Given the description of an element on the screen output the (x, y) to click on. 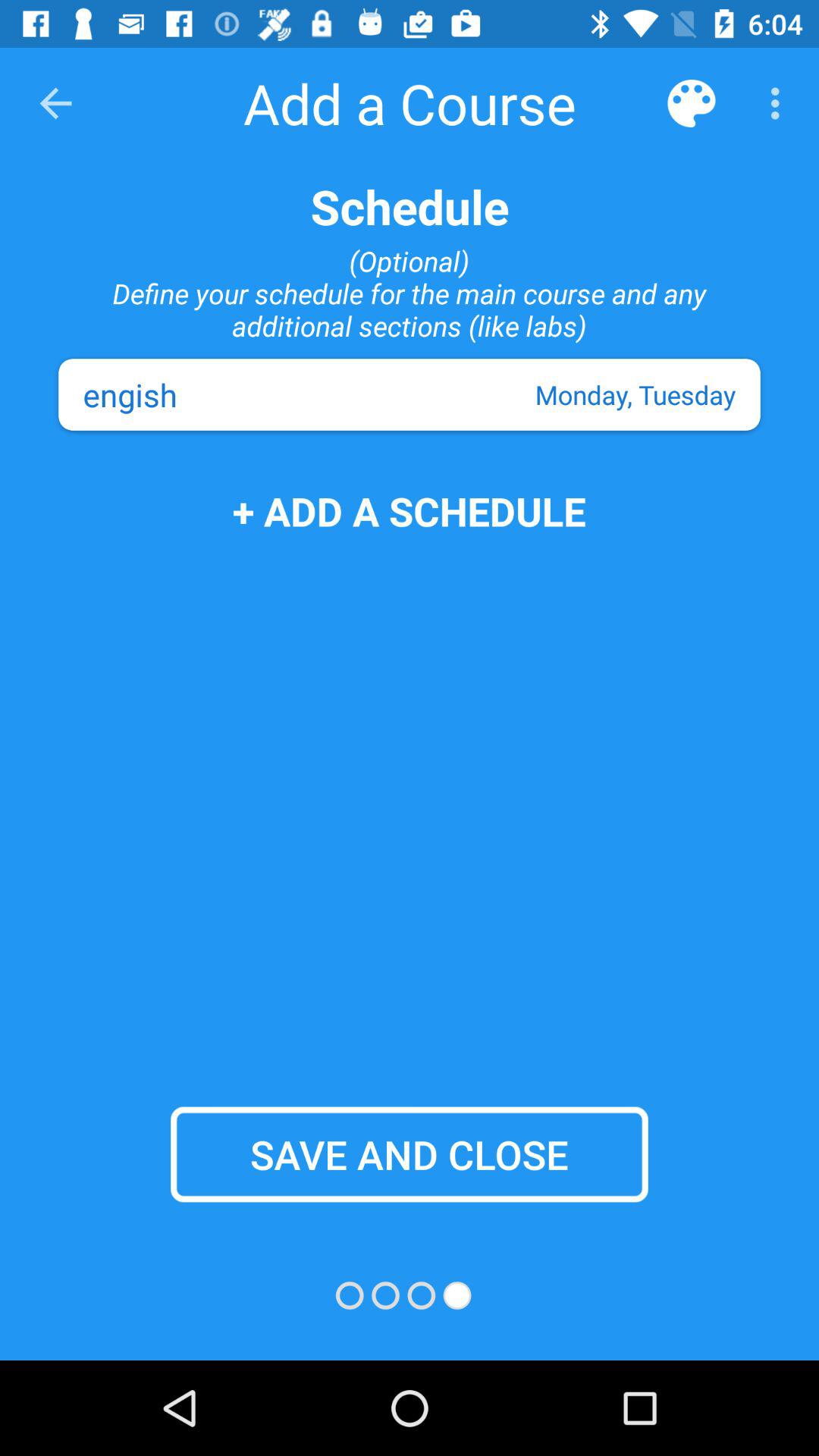
click save and close item (409, 1154)
